Given the description of an element on the screen output the (x, y) to click on. 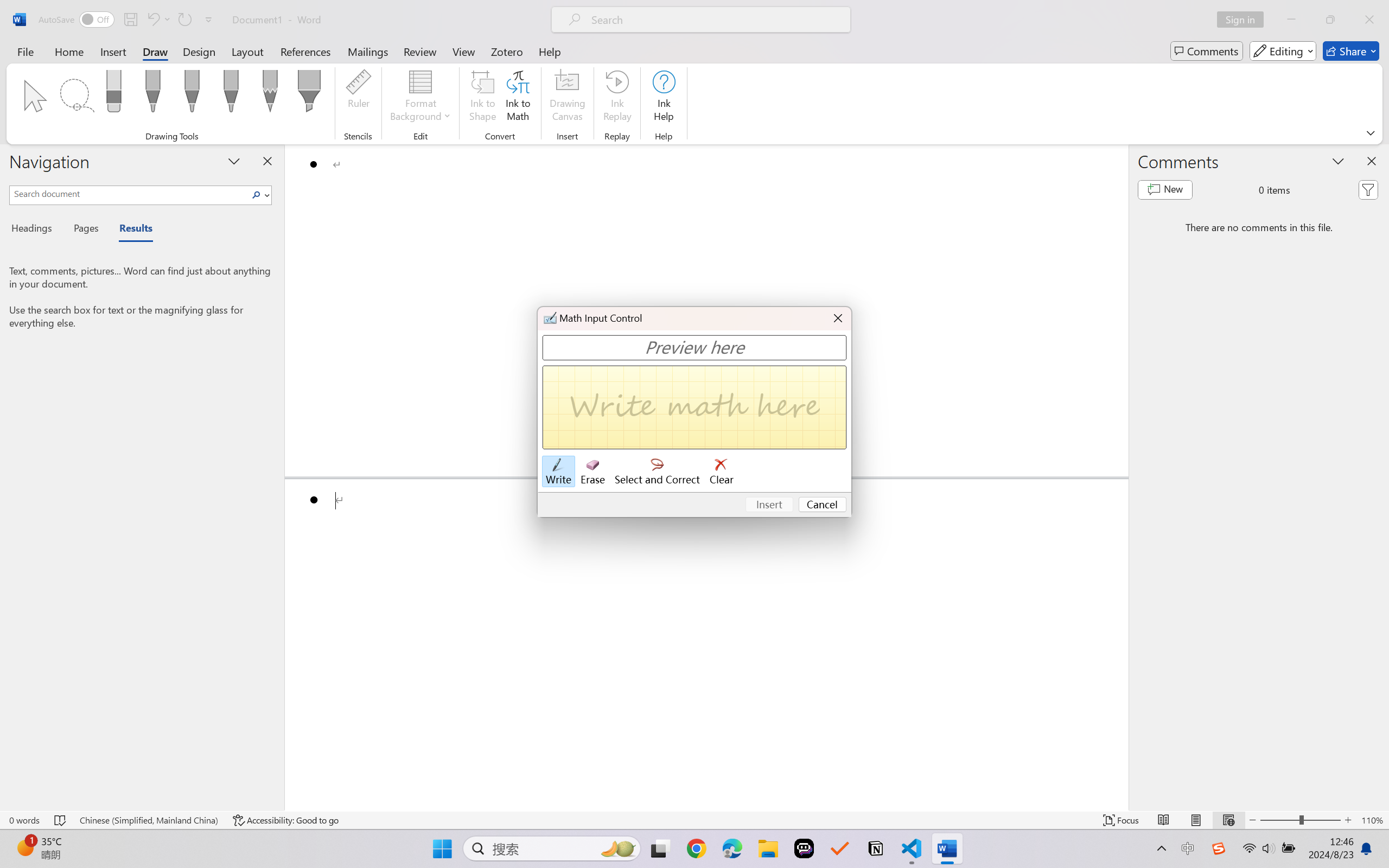
Cancel (822, 504)
